Given the description of an element on the screen output the (x, y) to click on. 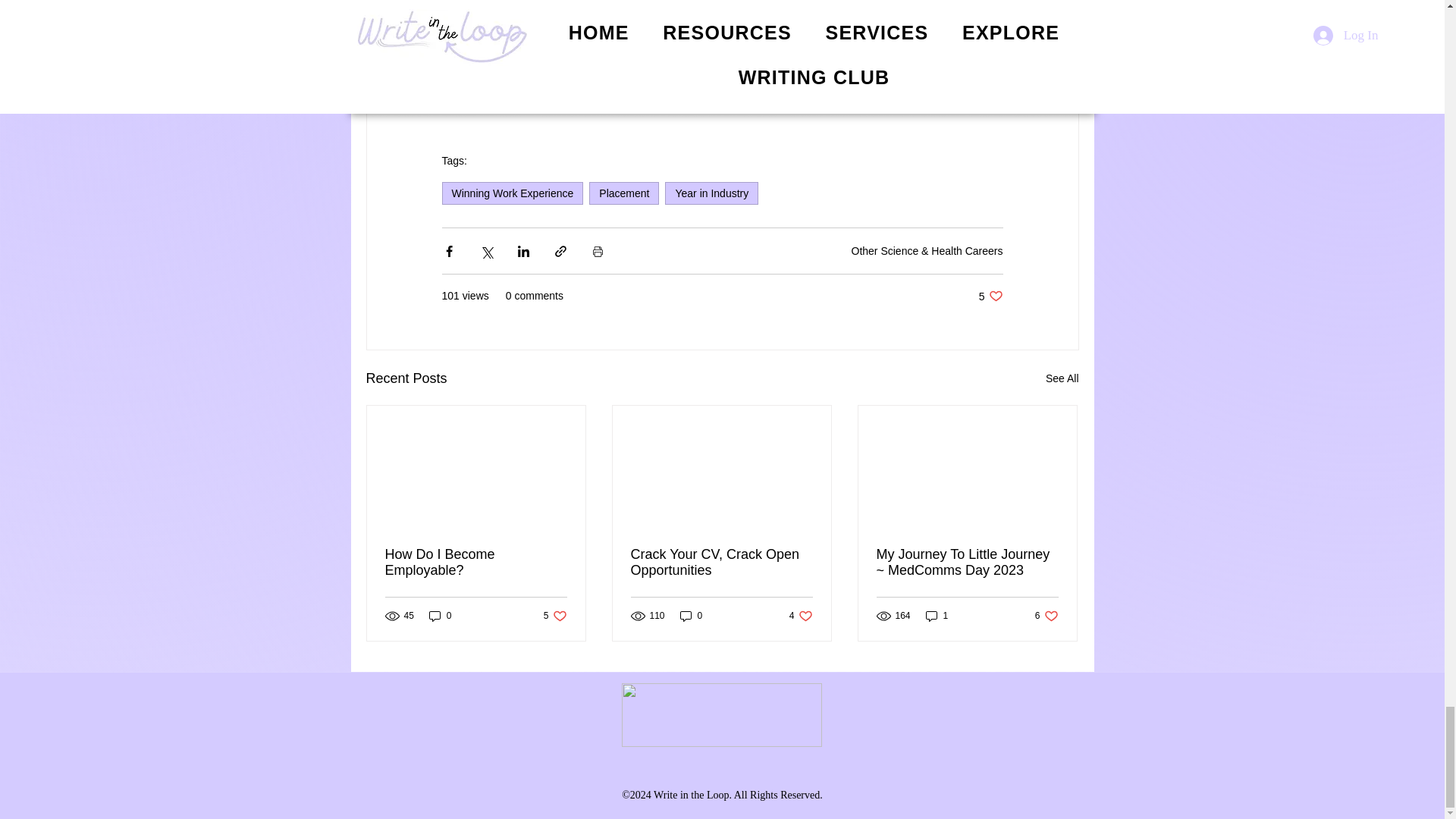
Placement (624, 192)
0 (800, 616)
Year in Industry (691, 616)
0 (555, 616)
Crack Your CV, Crack Open Opportunities (711, 192)
See All Options (440, 616)
See All (990, 296)
Winning Work Experience (721, 562)
How Do I Become Employable? (869, 54)
